Given the description of an element on the screen output the (x, y) to click on. 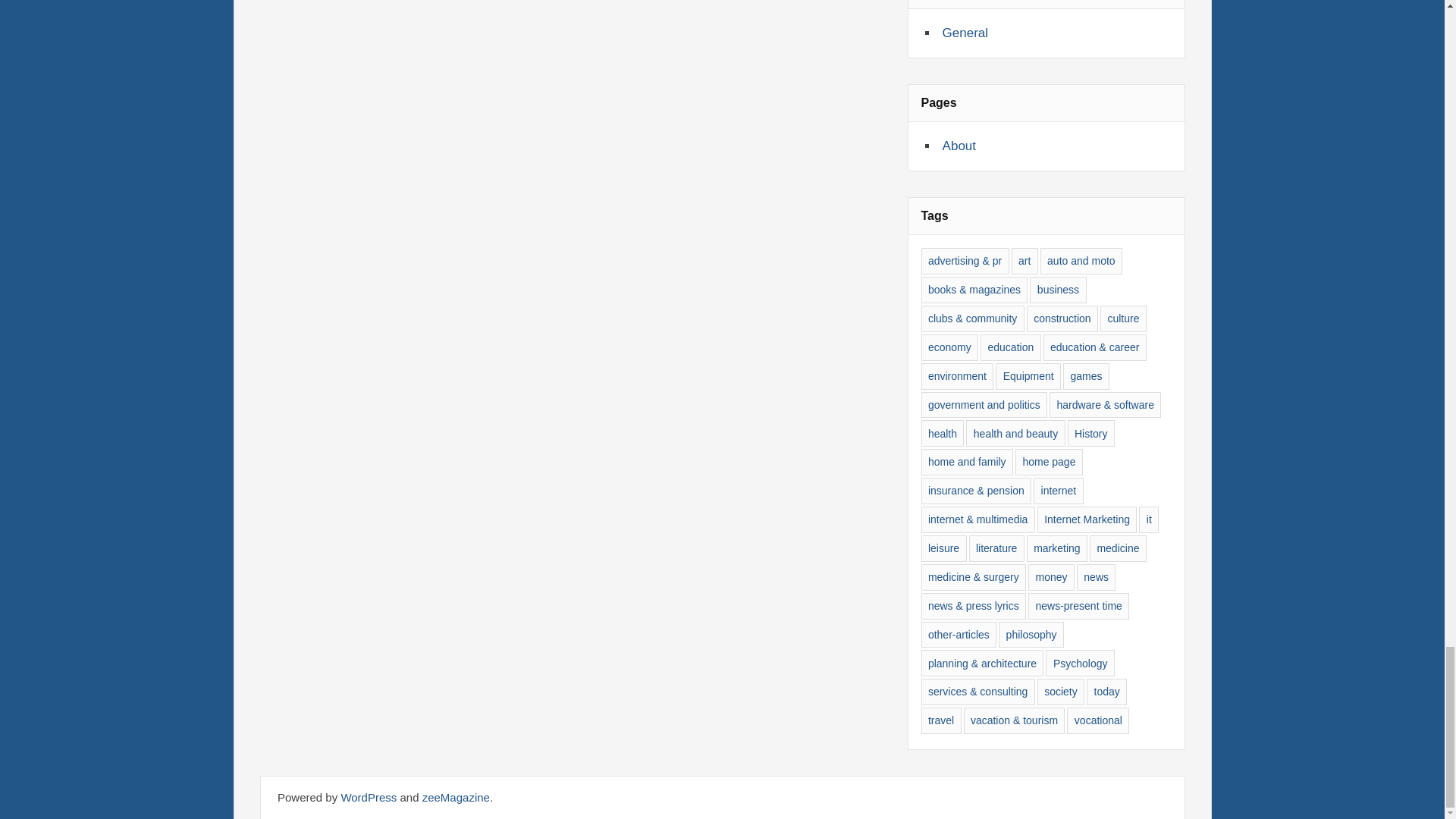
WordPress (368, 797)
zeeMagazine WordPress Theme (455, 797)
